Given the description of an element on the screen output the (x, y) to click on. 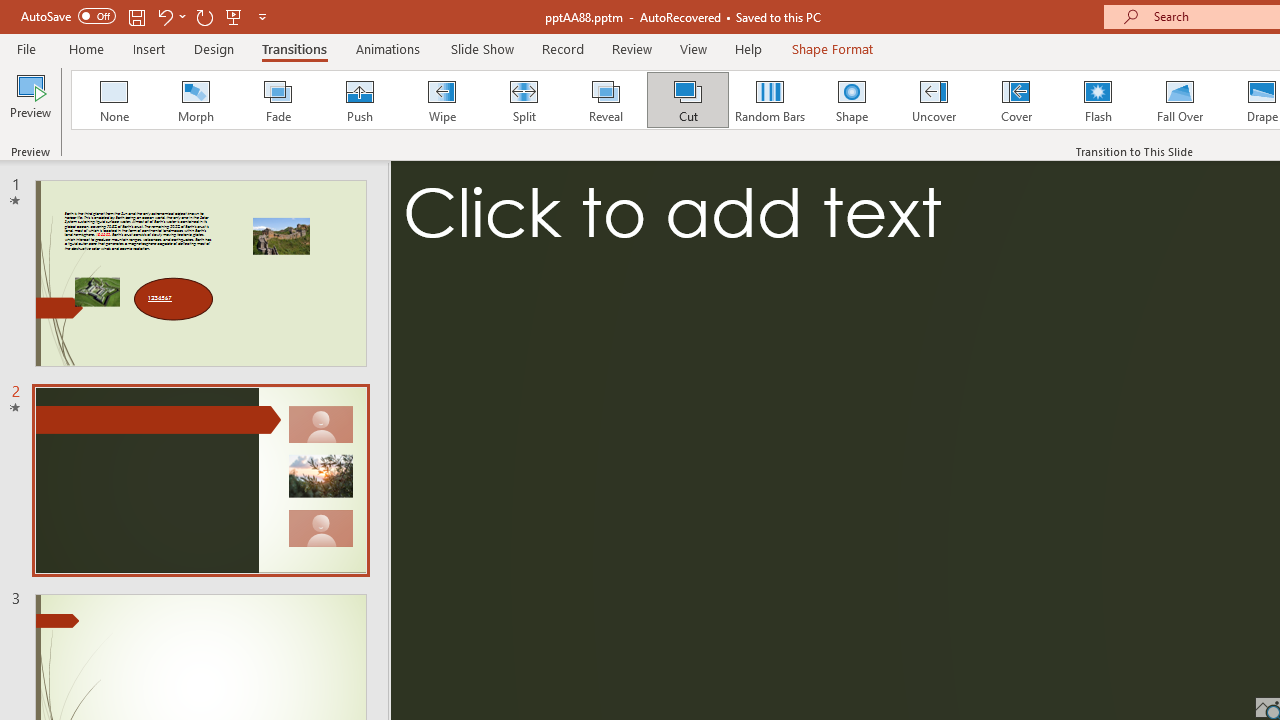
Uncover (934, 100)
Shape (852, 100)
Push (359, 100)
Fade (277, 100)
Wipe (441, 100)
